Given the description of an element on the screen output the (x, y) to click on. 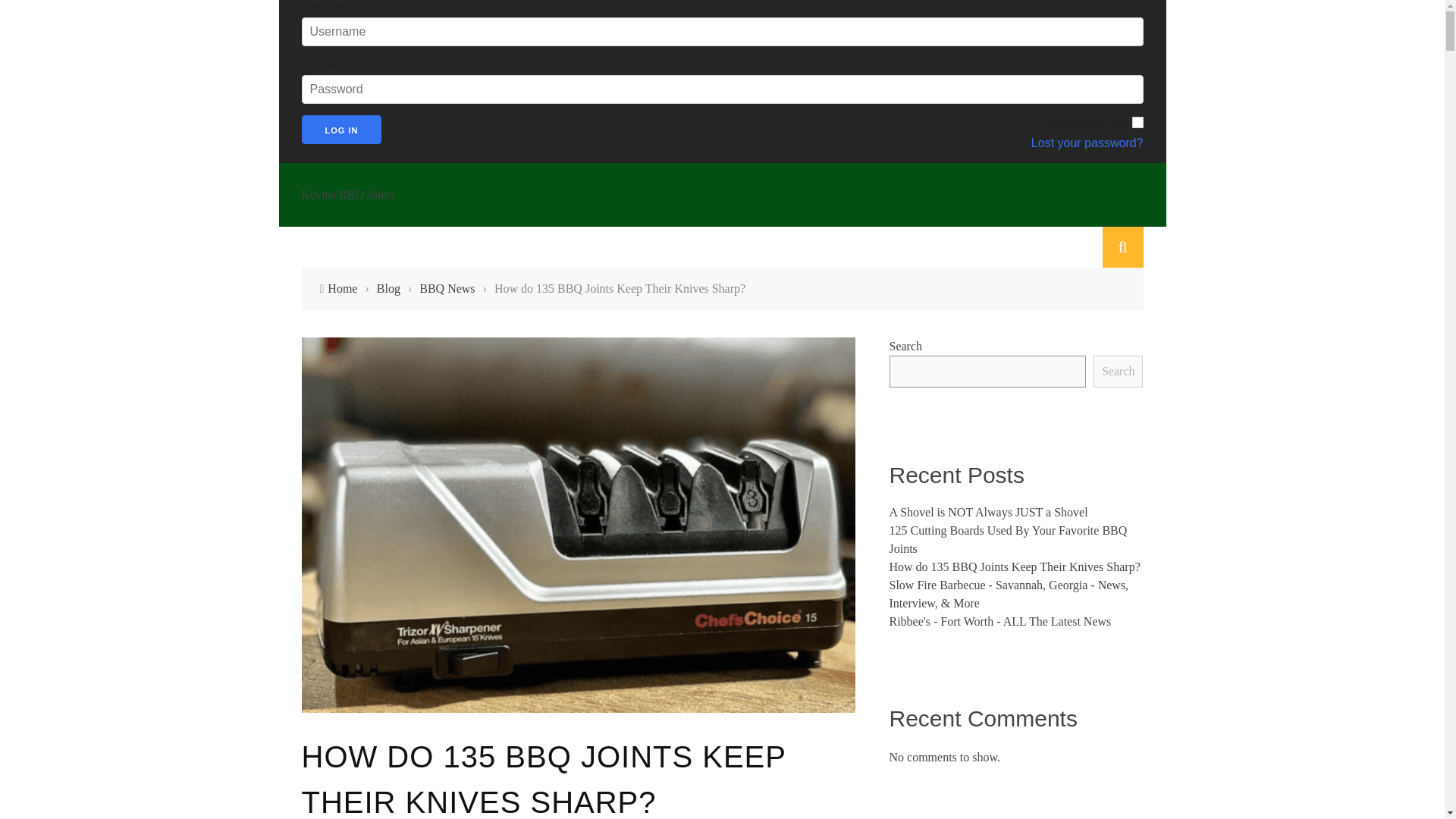
Home (341, 287)
Blog (388, 287)
Log In (341, 129)
Kevins BBQ Joints (721, 194)
Lost your password? (939, 142)
Log In (341, 129)
Password Lost and Found (939, 142)
BBQ News (446, 287)
forever (1136, 122)
